Given the description of an element on the screen output the (x, y) to click on. 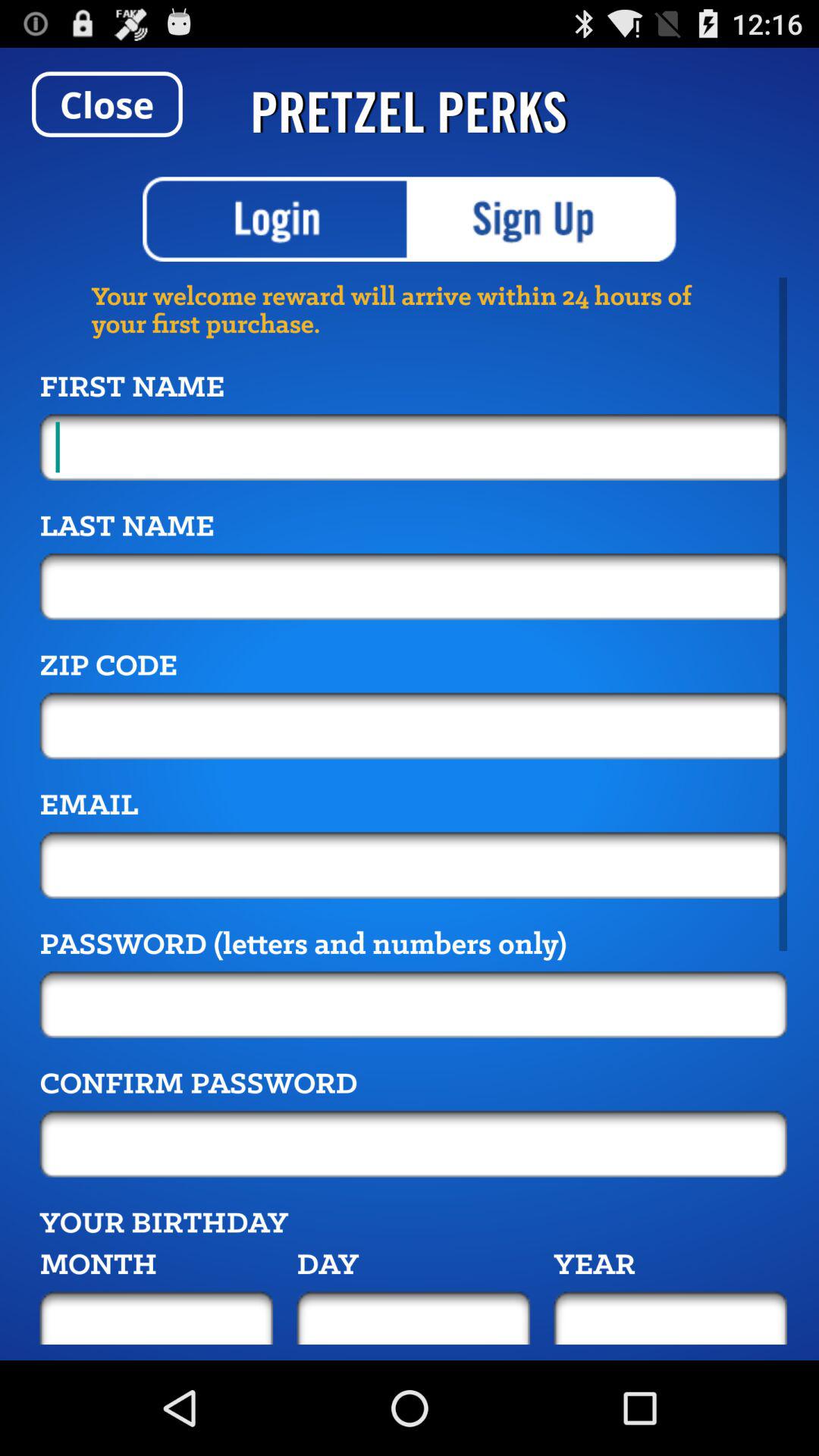
first name entry (413, 447)
